Given the description of an element on the screen output the (x, y) to click on. 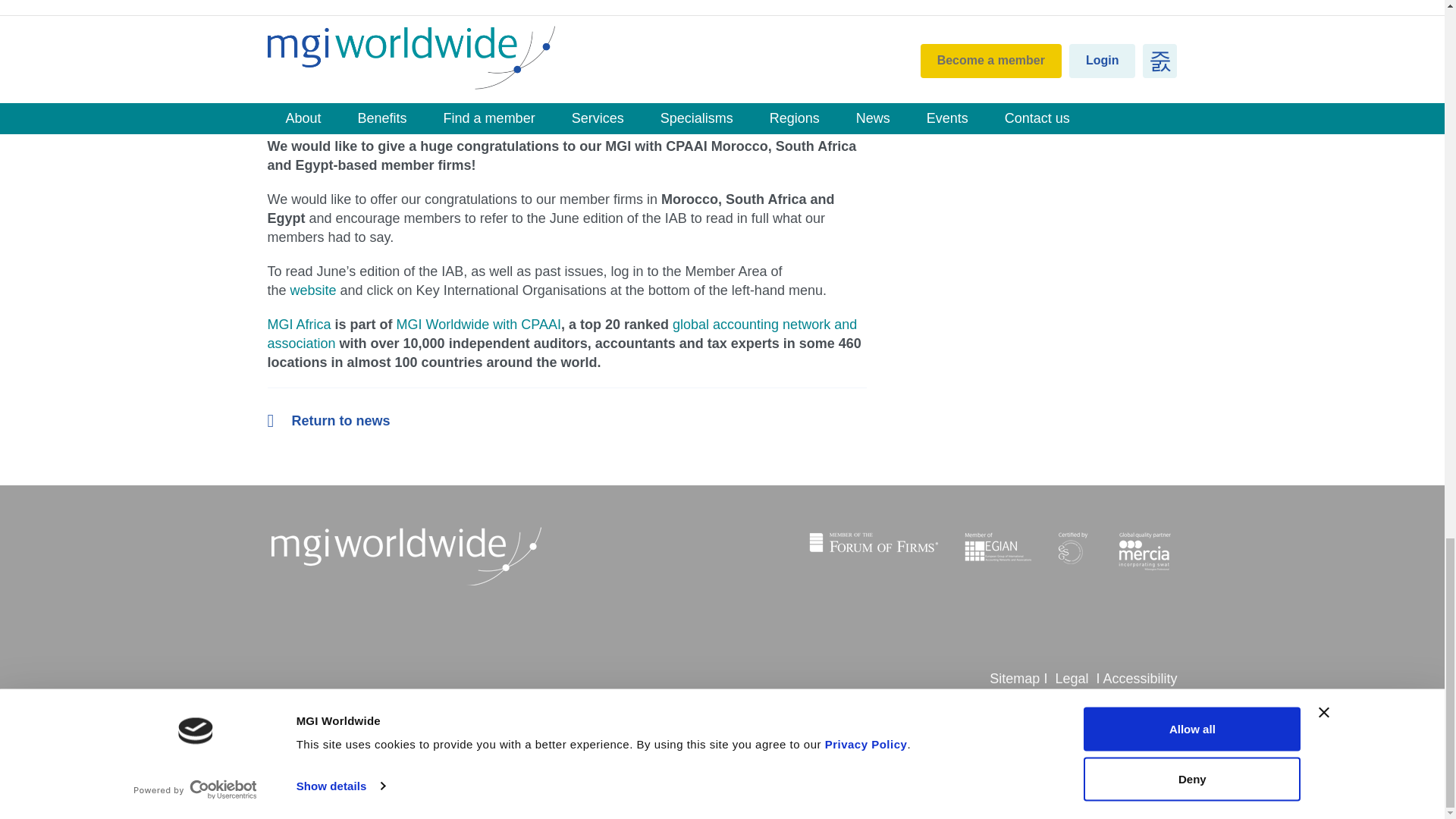
Youtube (392, 713)
Instagram (306, 713)
Twitter (363, 713)
